Given the description of an element on the screen output the (x, y) to click on. 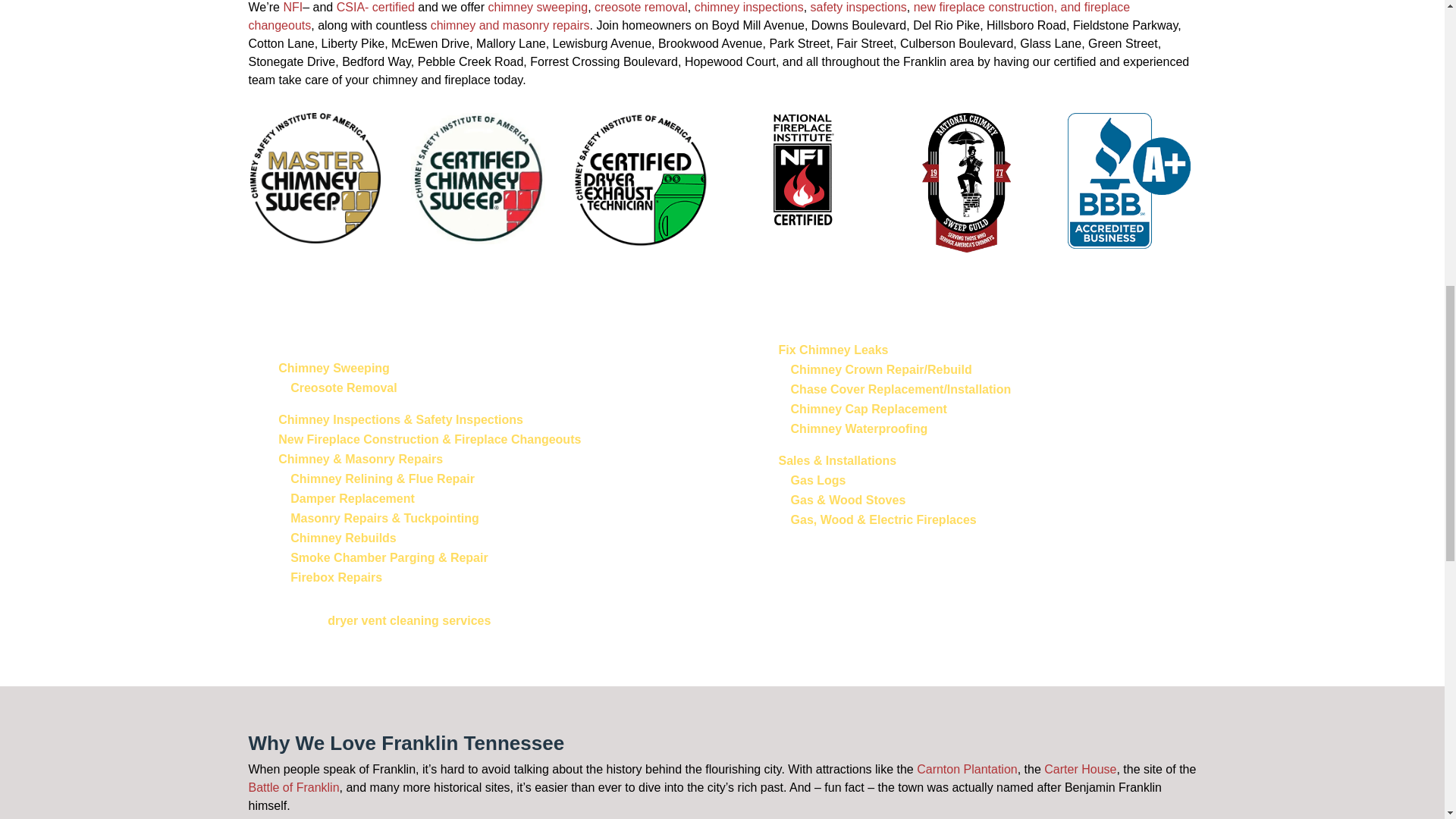
NCSG (965, 183)
CDET (640, 180)
Master Chimney Sweep (315, 178)
